Given the description of an element on the screen output the (x, y) to click on. 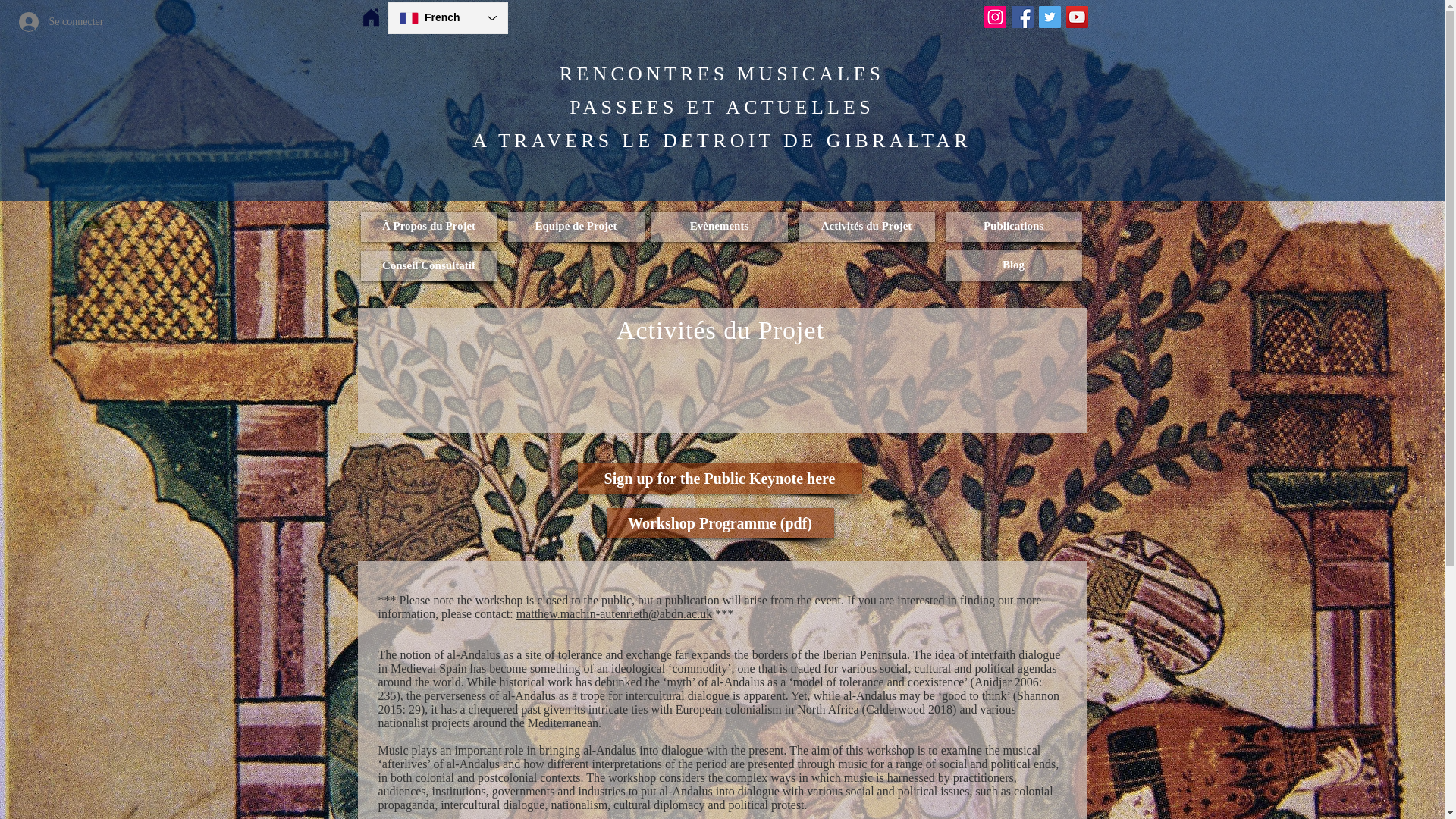
Sign up for the Public Keynote here (719, 478)
Publications (1012, 226)
Se connecter (53, 21)
Blog (1012, 265)
Equipe de Projet (576, 226)
Conseil Consultatif (429, 265)
